Given the description of an element on the screen output the (x, y) to click on. 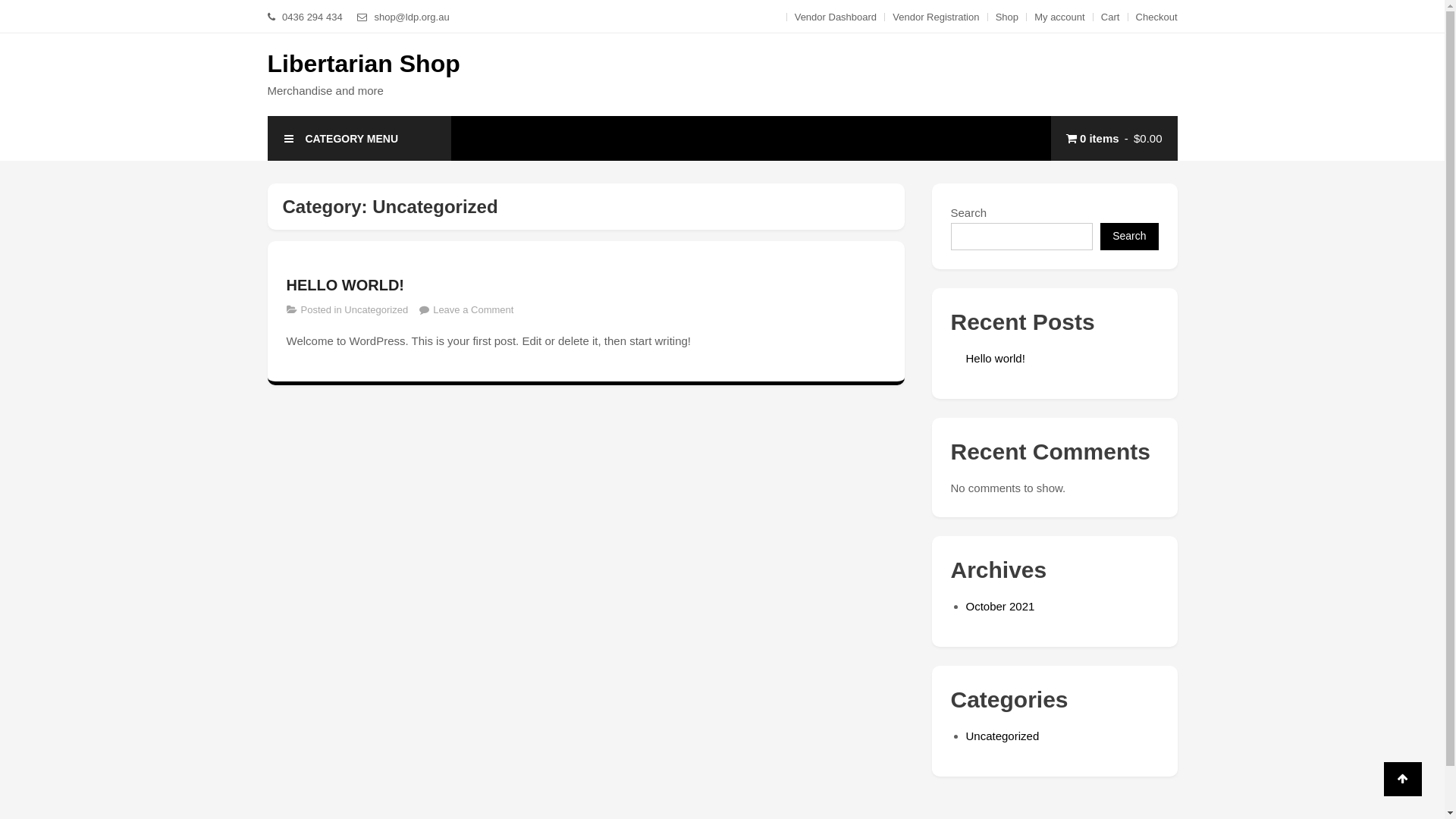
Vendor Dashboard Element type: text (835, 16)
Cart Element type: text (1110, 16)
Leave a Comment
on Hello world! Element type: text (473, 309)
Search Element type: text (1128, 236)
HELLO WORLD! Element type: text (585, 284)
Uncategorized Element type: text (375, 309)
My account Element type: text (1059, 16)
Libertarian Shop Element type: text (362, 63)
Vendor Registration Element type: text (935, 16)
0 items $0.00 Element type: text (1114, 138)
Uncategorized Element type: text (1002, 735)
Hello world! Element type: text (995, 357)
Shop Element type: text (1006, 16)
Checkout Element type: text (1156, 16)
October 2021 Element type: text (1000, 605)
